Given the description of an element on the screen output the (x, y) to click on. 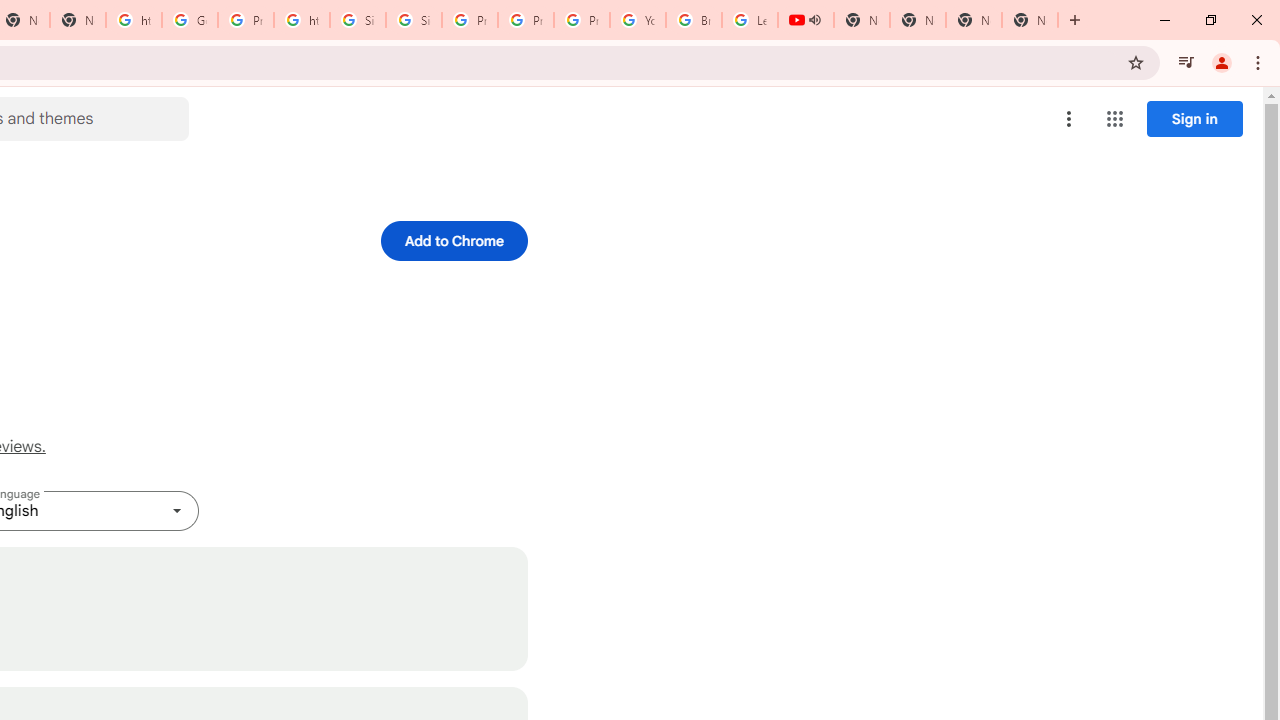
https://scholar.google.com/ (301, 20)
YouTube (637, 20)
Add to Chrome (453, 240)
Sign in - Google Accounts (358, 20)
Privacy Help Center - Policies Help (469, 20)
